Given the description of an element on the screen output the (x, y) to click on. 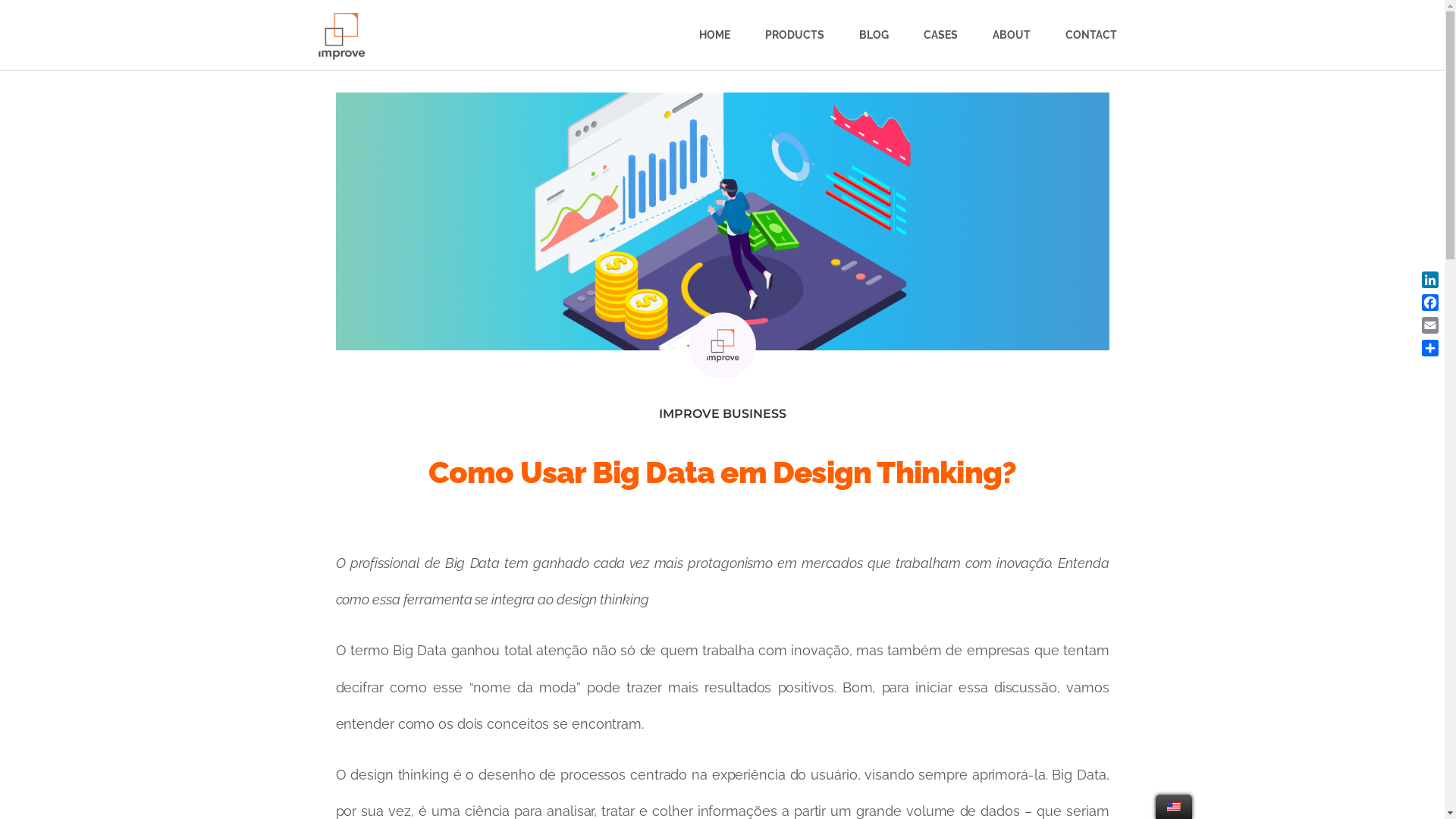
Email Element type: text (1429, 324)
big data Element type: hover (721, 221)
PRODUCTS Element type: text (793, 34)
BLOG Element type: text (873, 34)
CASES Element type: text (940, 34)
Facebook Element type: text (1429, 302)
HOME Element type: text (714, 34)
ABOUT Element type: text (1010, 34)
Share Element type: text (1429, 347)
LinkedIn Element type: text (1429, 279)
CONTACT Element type: text (1090, 34)
English Element type: hover (1173, 806)
